Given the description of an element on the screen output the (x, y) to click on. 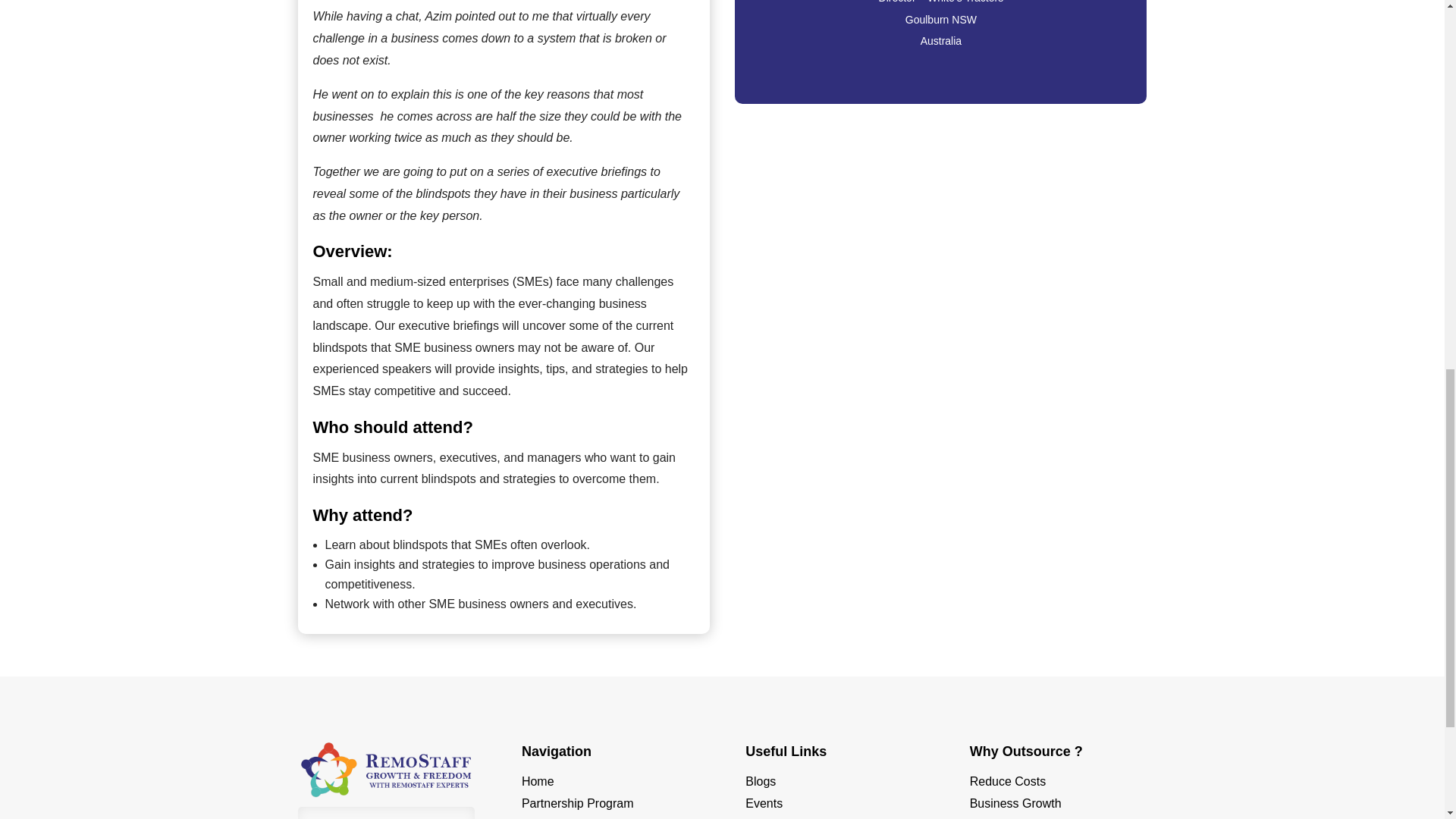
Partnership Program (577, 802)
Home (537, 780)
Events (764, 802)
Blogs (760, 780)
